Given the description of an element on the screen output the (x, y) to click on. 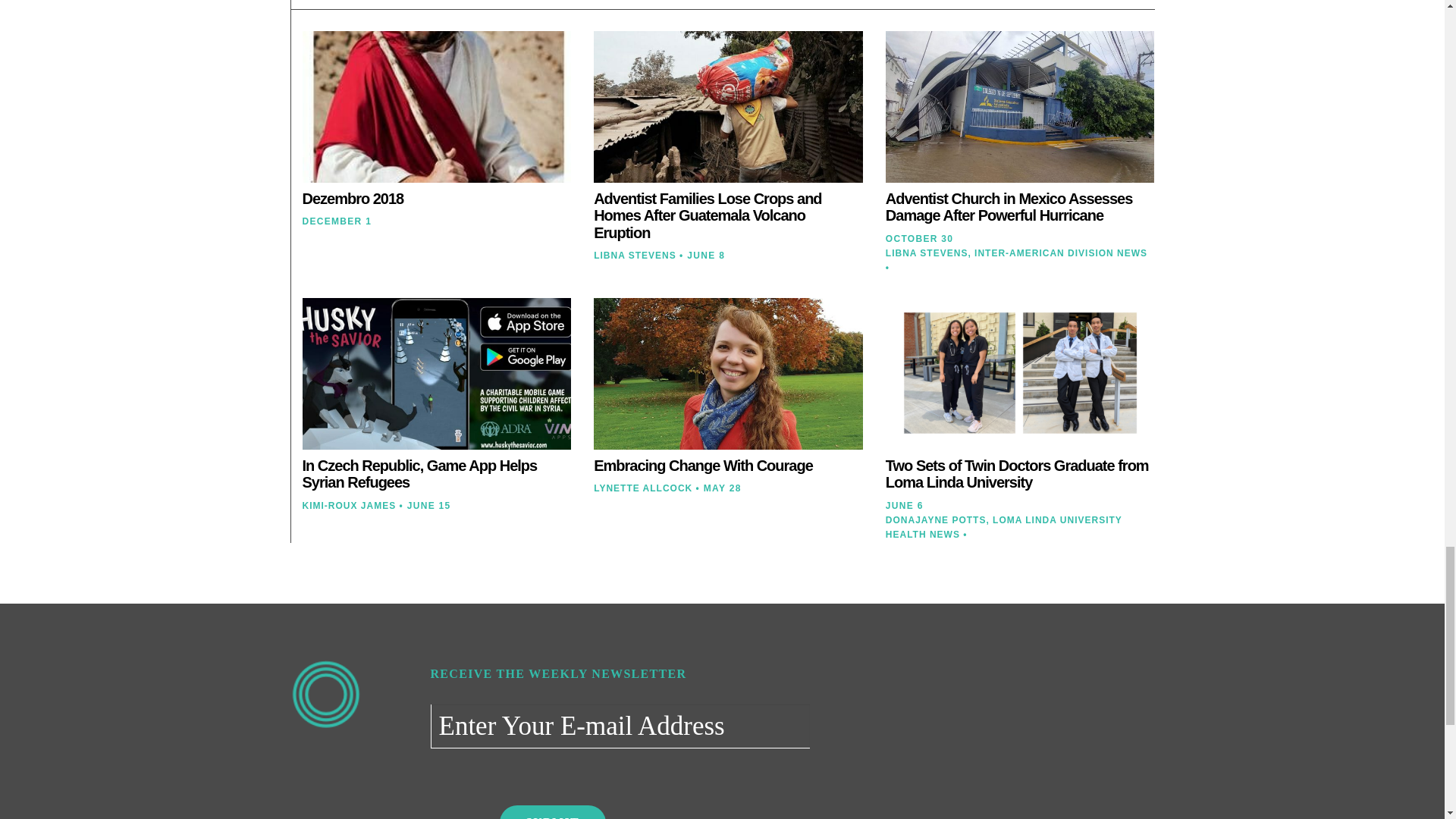
Embracing Change With Courage (703, 465)
Two Sets of Twin Doctors Graduate from Loma Linda University (1016, 474)
KIMI-ROUX JAMES (348, 505)
Two Sets of Twin Doctors Graduate from Loma Linda University (1016, 474)
Embracing Change With Courage (703, 465)
In Czech Republic, Game App Helps Syrian Refugees (419, 474)
LIBNA STEVENS (635, 255)
Dezembro 2018 (352, 198)
In Czech Republic, Game App Helps Syrian Refugees (419, 474)
Dezembro 2018 (352, 198)
LYNETTE ALLCOCK (643, 488)
